Given the description of an element on the screen output the (x, y) to click on. 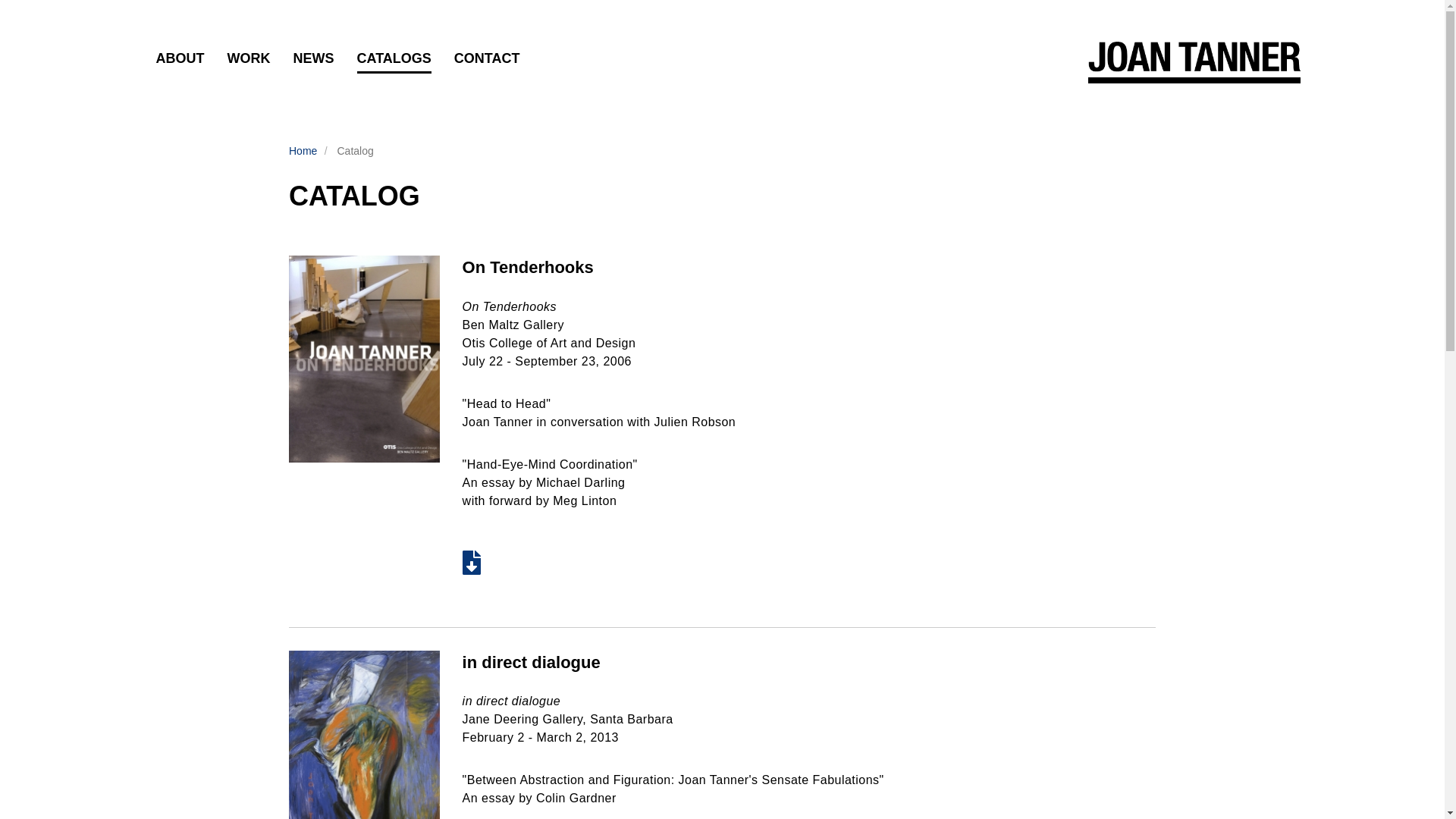
NEWS (312, 60)
CONTACT (486, 60)
WORK (248, 60)
ABOUT (180, 60)
Home (302, 150)
CATALOGS (393, 61)
